Given the description of an element on the screen output the (x, y) to click on. 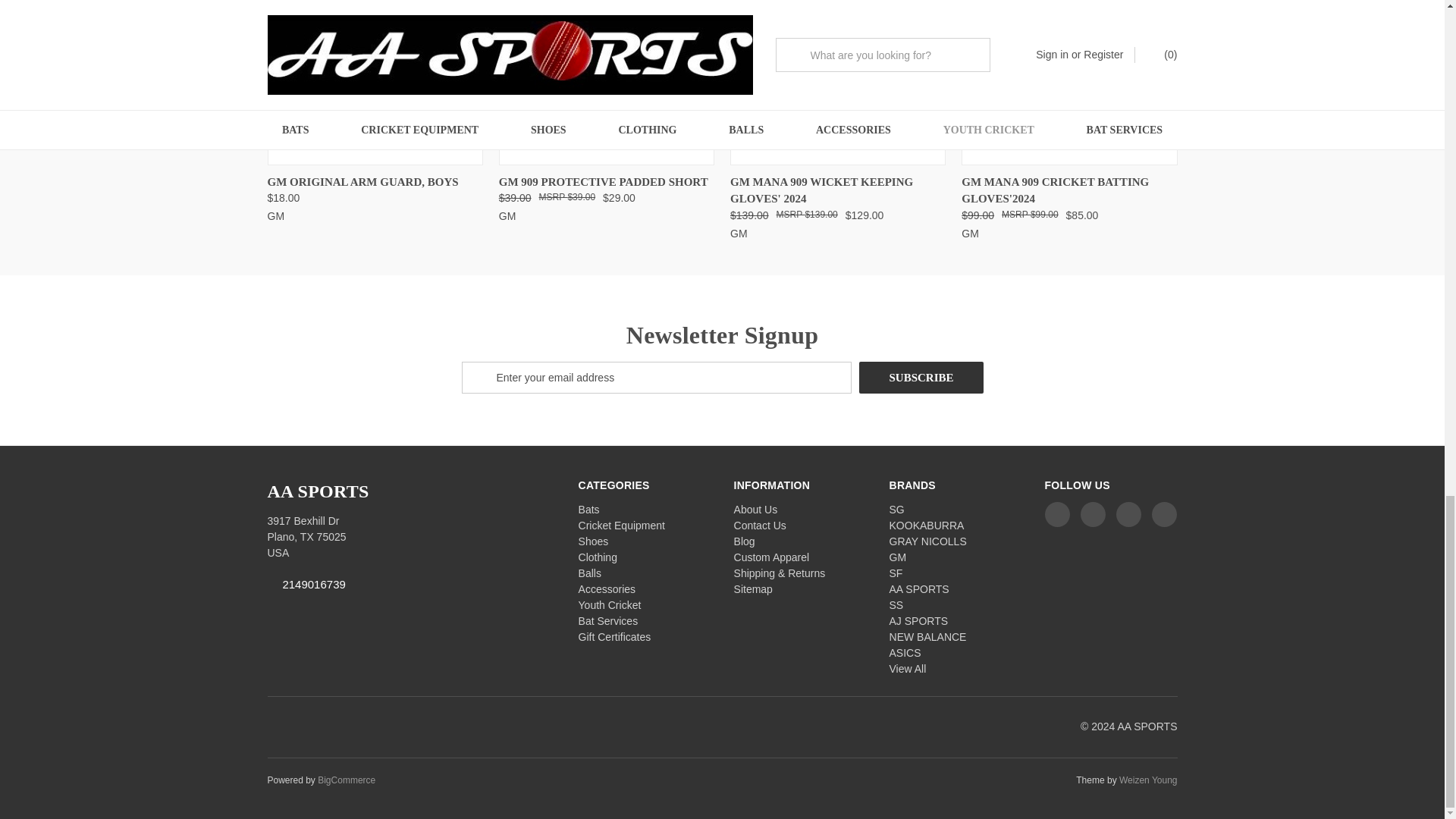
GM 909 Protective Padded Short (606, 80)
GM  Original Arm Guard, Boys (374, 80)
GM Mana 909 Cricket Batting Gloves'2024 (1068, 80)
Subscribe (920, 377)
GM Mana 909 Wicket Keeping Gloves' 2024 (837, 80)
